Given the description of an element on the screen output the (x, y) to click on. 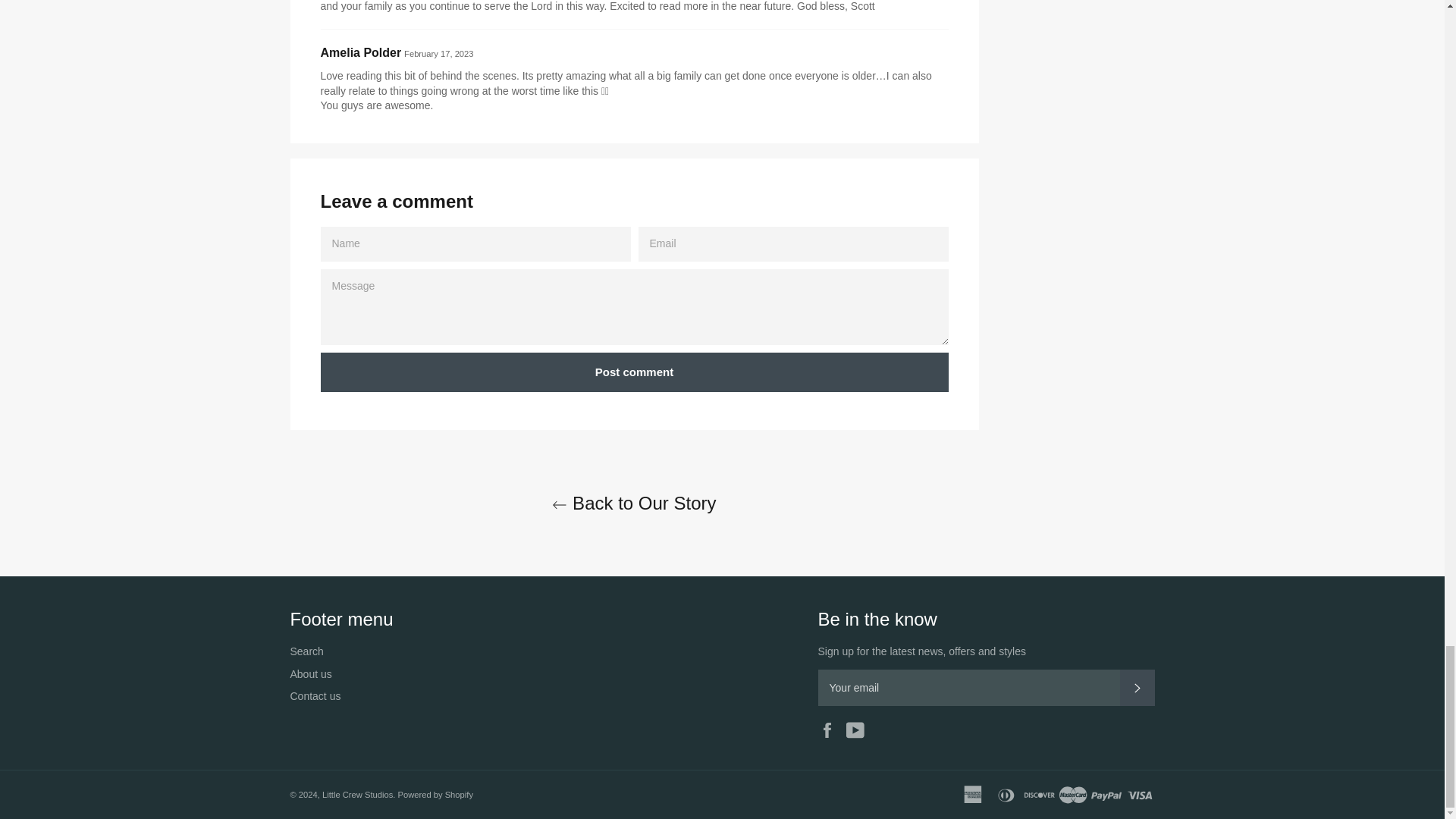
Post comment (633, 372)
Back to Our Story (633, 502)
Facebook (829, 728)
YouTube (858, 728)
Little Crew Studios on Facebook (829, 728)
Little Crew Studios on YouTube (858, 728)
Search (306, 651)
Post comment (633, 372)
Subscribe (1136, 687)
